Given the description of an element on the screen output the (x, y) to click on. 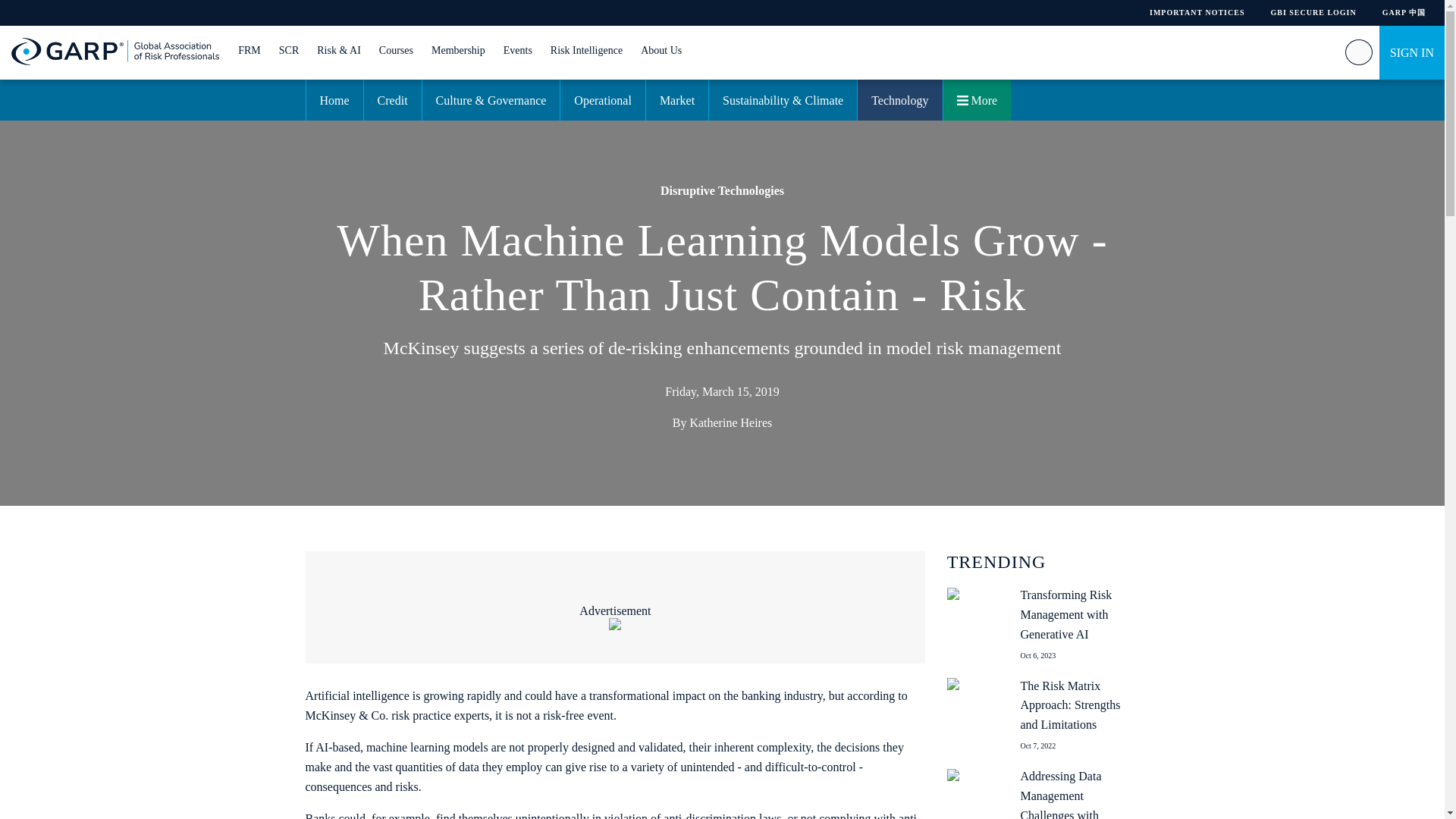
IMPORTANT NOTICES (1197, 12)
GBI SECURE LOGIN (1312, 12)
